Given the description of an element on the screen output the (x, y) to click on. 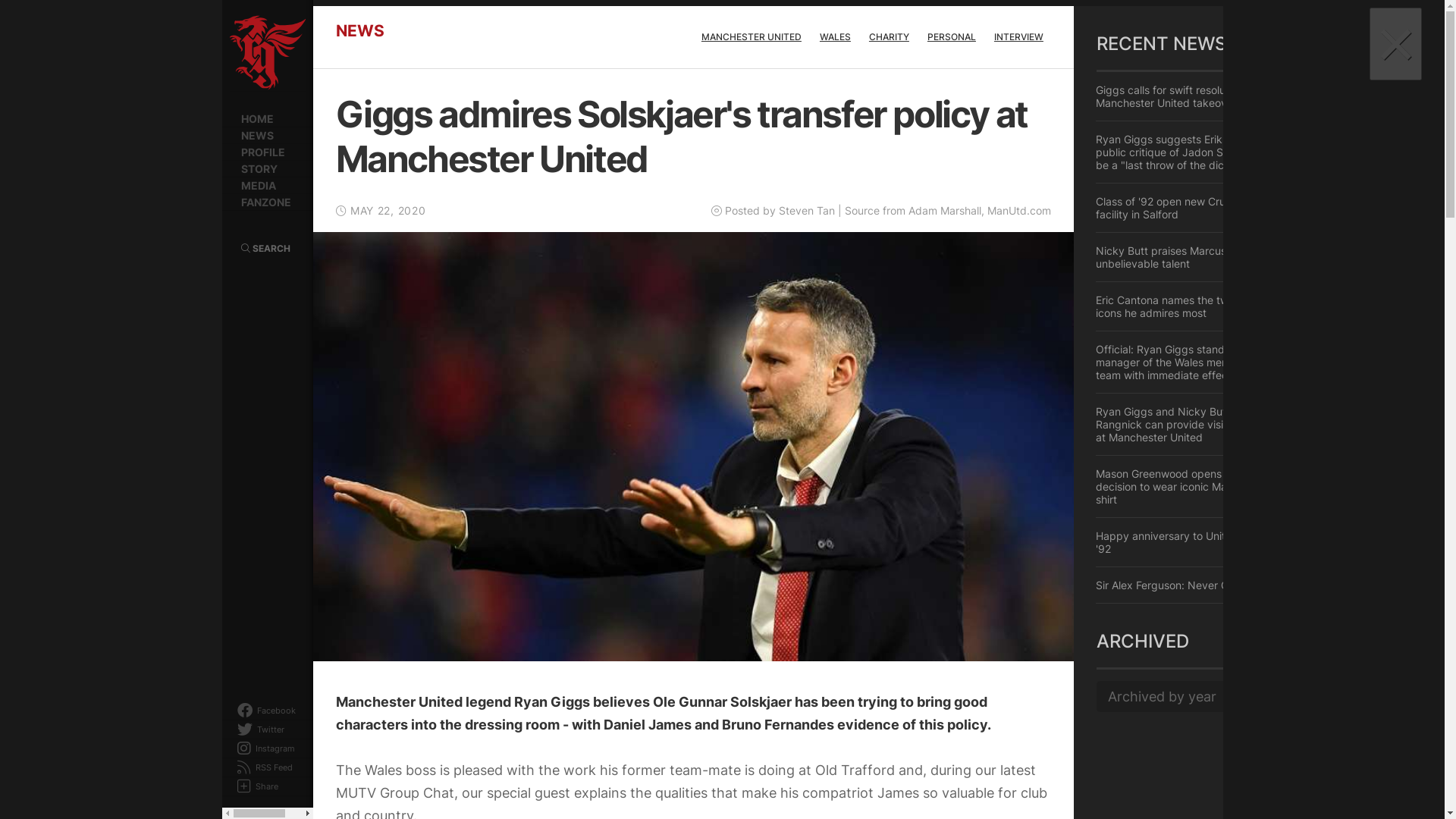
Happy anniversary to United's Class of '92 Element type: text (1193, 542)
Twitter Element type: text (281, 729)
Sir Alex Ferguson: Never Give In Element type: text (1193, 585)
INTERVIEW Element type: text (1018, 36)
HOME Element type: text (266, 118)
SEARCH Element type: text (264, 248)
MANCHESTER UNITED Element type: text (751, 36)
RSS Feed Element type: text (281, 767)
Search Element type: text (1265, 57)
Eric Cantona names the two football icons he admires most Element type: text (1193, 306)
Facebook Element type: text (281, 710)
STORY Element type: text (266, 168)
Ryan Giggs | Manchester United & Wales Element type: text (247, 36)
CHARITY Element type: text (888, 36)
Instagram Element type: text (281, 748)
WALES Element type: text (835, 36)
Ryan Giggs | Manchester United & Wales Element type: text (266, 53)
Nicky Butt praises Marcus Rashford's unbelievable talent Element type: text (1193, 257)
Share Element type: text (281, 786)
FANZONE Element type: text (266, 202)
PERSONAL Element type: text (951, 36)
Class of '92 open new Cruyff Court facility in Salford Element type: text (1193, 207)
PROFILE Element type: text (266, 152)
MEDIA Element type: text (266, 185)
  Element type: text (244, 72)
NEWS Element type: text (266, 135)
